Given the description of an element on the screen output the (x, y) to click on. 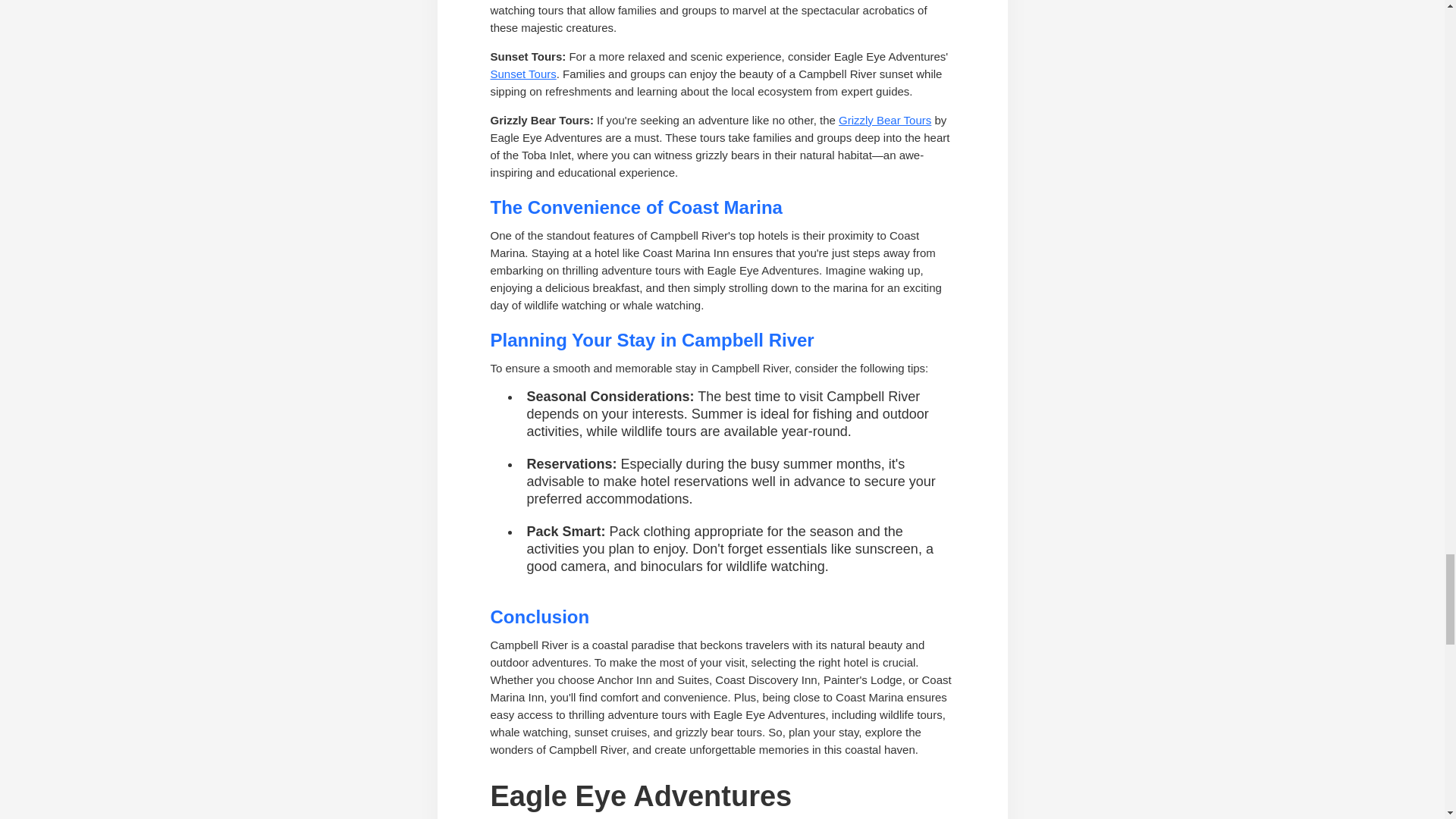
Sunset Tours (522, 73)
Grizzly Bear Tours (884, 119)
